Given the description of an element on the screen output the (x, y) to click on. 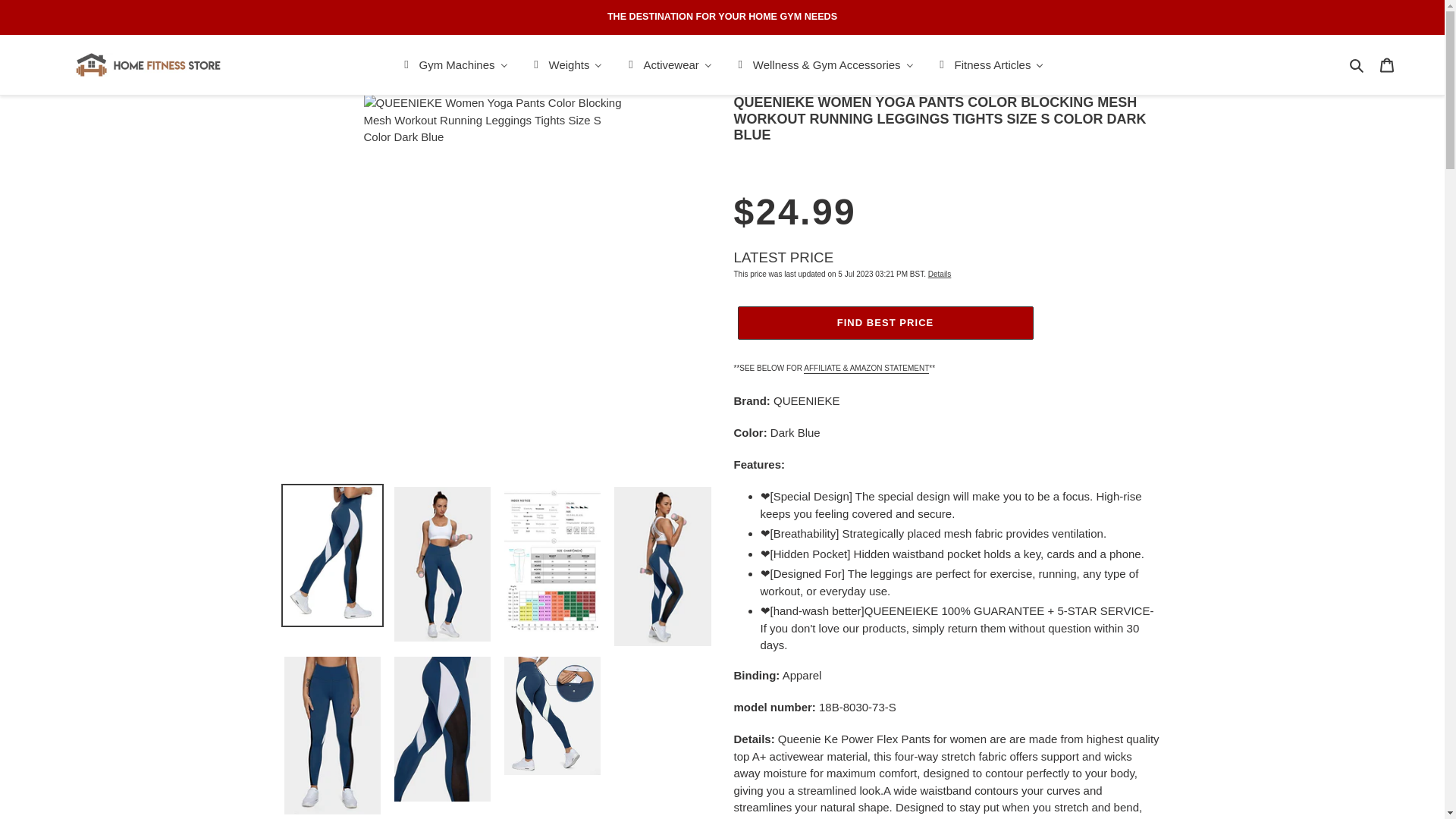
Weights (566, 65)
Gym Machines (454, 65)
